Given the description of an element on the screen output the (x, y) to click on. 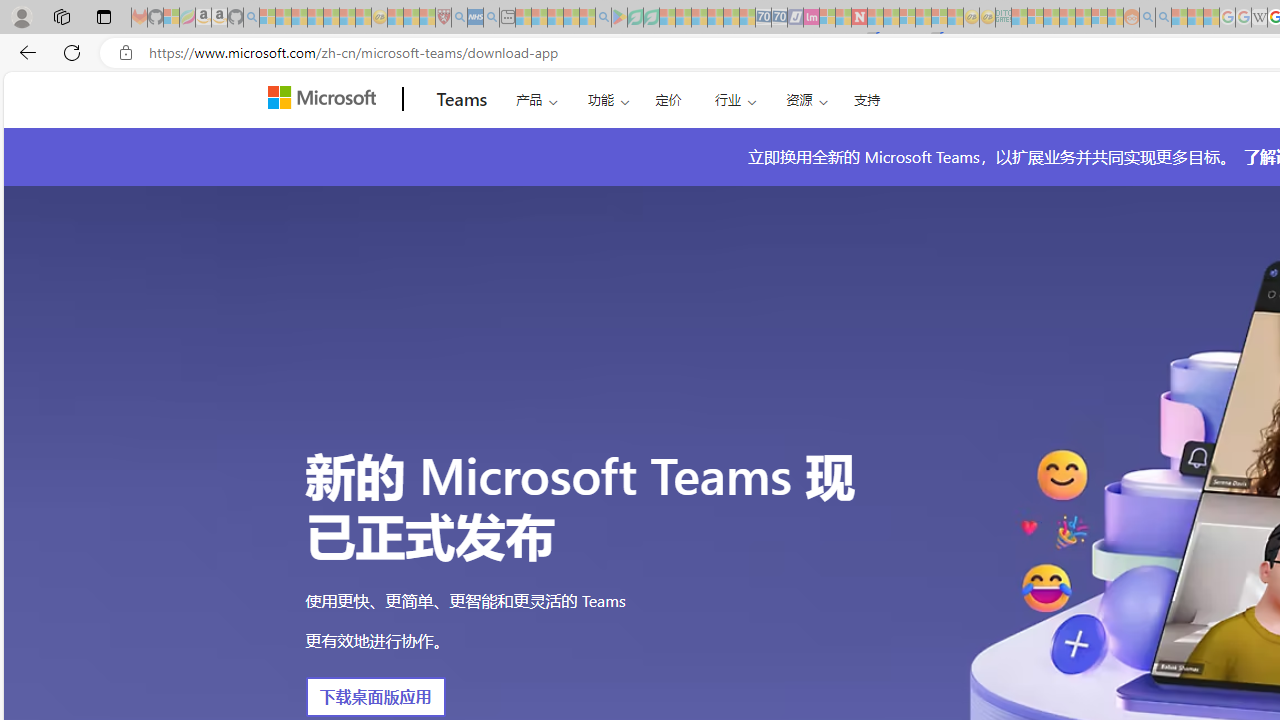
Teams (461, 99)
